Given the description of an element on the screen output the (x, y) to click on. 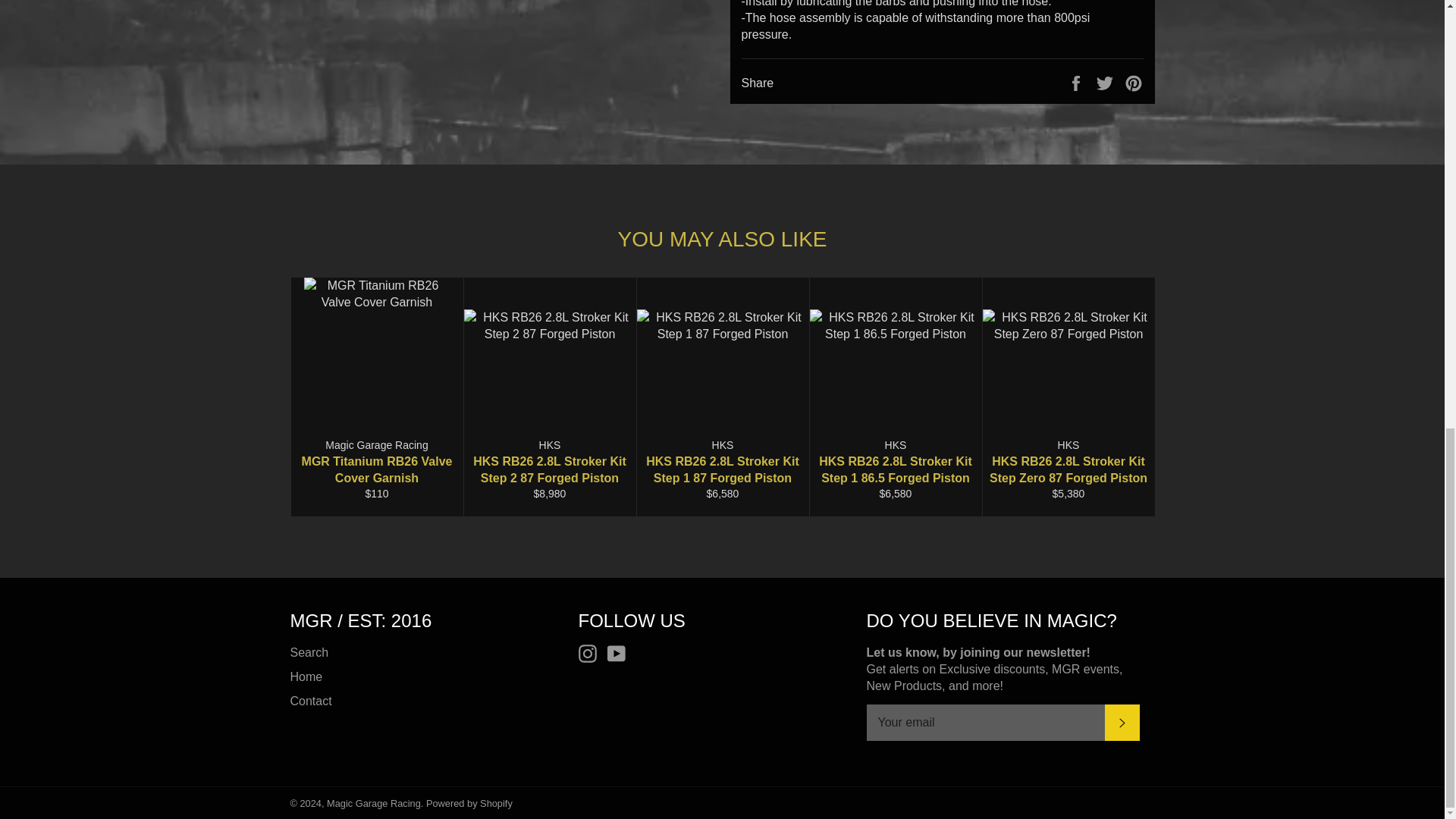
Pin on Pinterest (1133, 82)
Magic Garage Racing on Instagram (591, 653)
Magic Garage Racing on YouTube (620, 653)
Share on Facebook (1077, 82)
Tweet on Twitter (1106, 82)
